Given the description of an element on the screen output the (x, y) to click on. 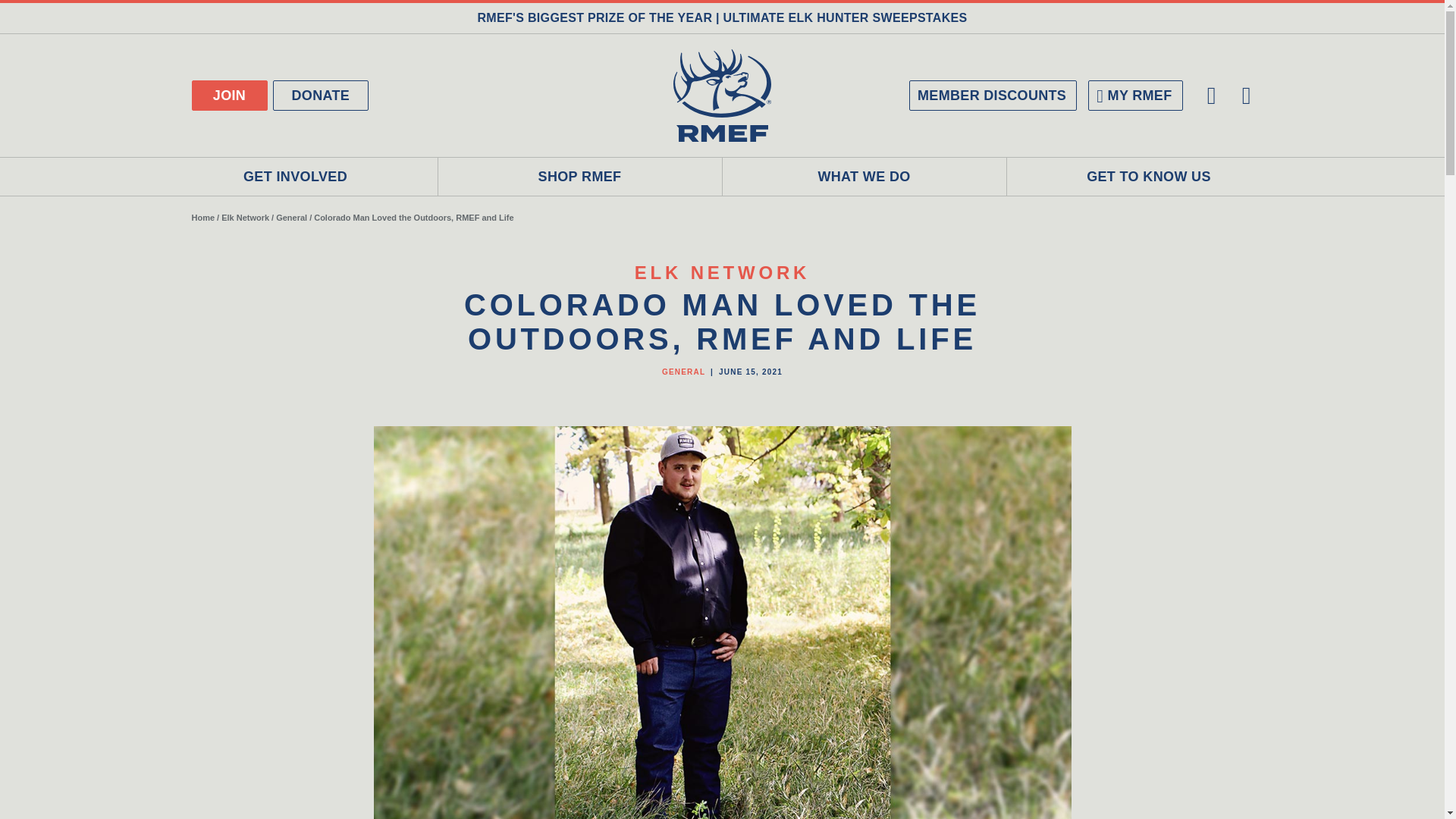
MY RMEF (1134, 95)
DONATE (321, 95)
WHAT WE DO (864, 176)
JOIN (228, 95)
GET INVOLVED (295, 176)
MEMBER DISCOUNTS (992, 95)
SHOP RMEF (580, 176)
GET TO KNOW US (1149, 176)
